Given the description of an element on the screen output the (x, y) to click on. 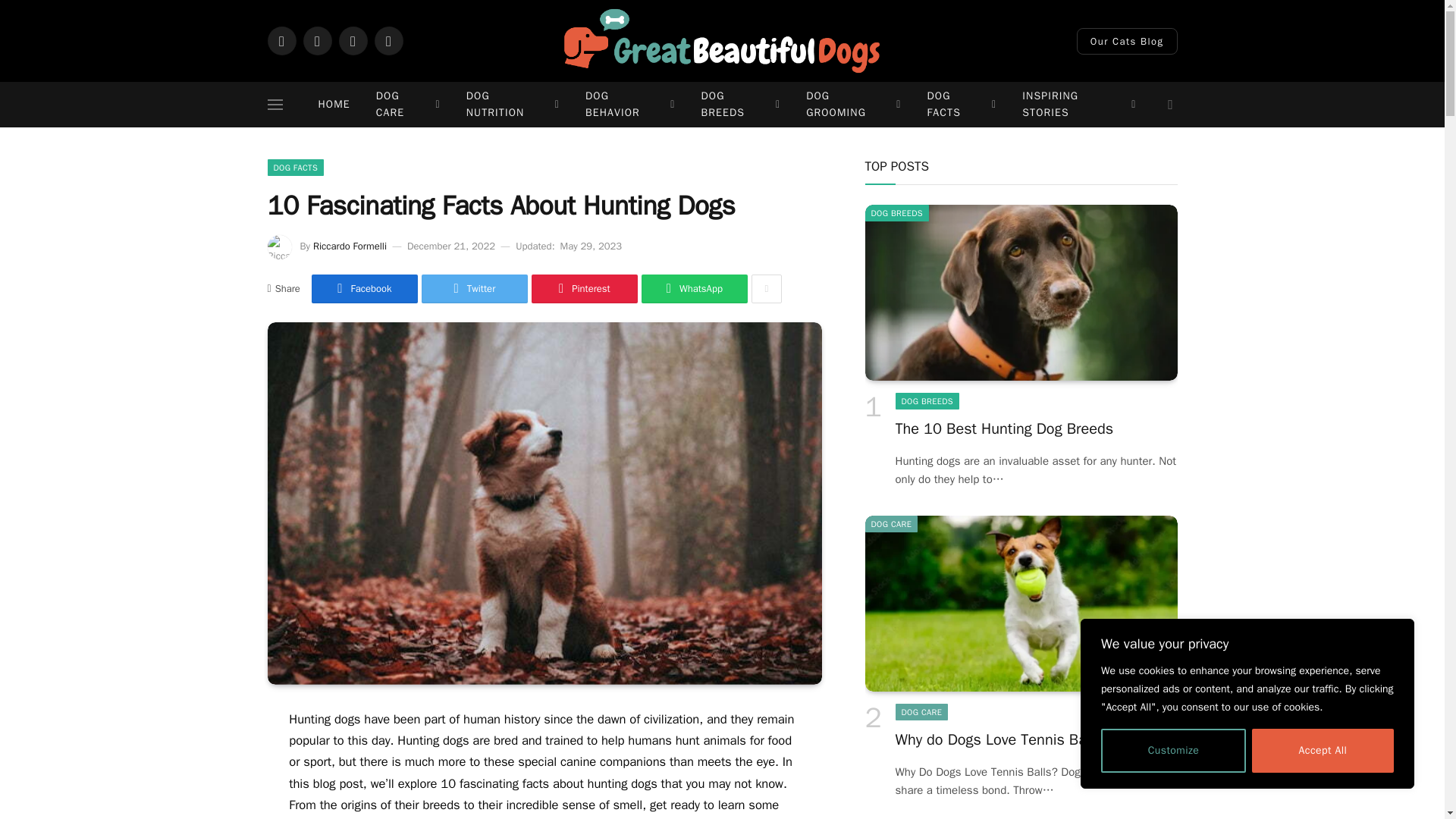
DOG CARE (407, 104)
Our Cats Blog (1127, 40)
Accept All (1322, 750)
Instagram (351, 40)
Pinterest (388, 40)
Customize (1173, 750)
Facebook (280, 40)
GreatBeautifulDogs (722, 40)
HOME (333, 104)
